Given the description of an element on the screen output the (x, y) to click on. 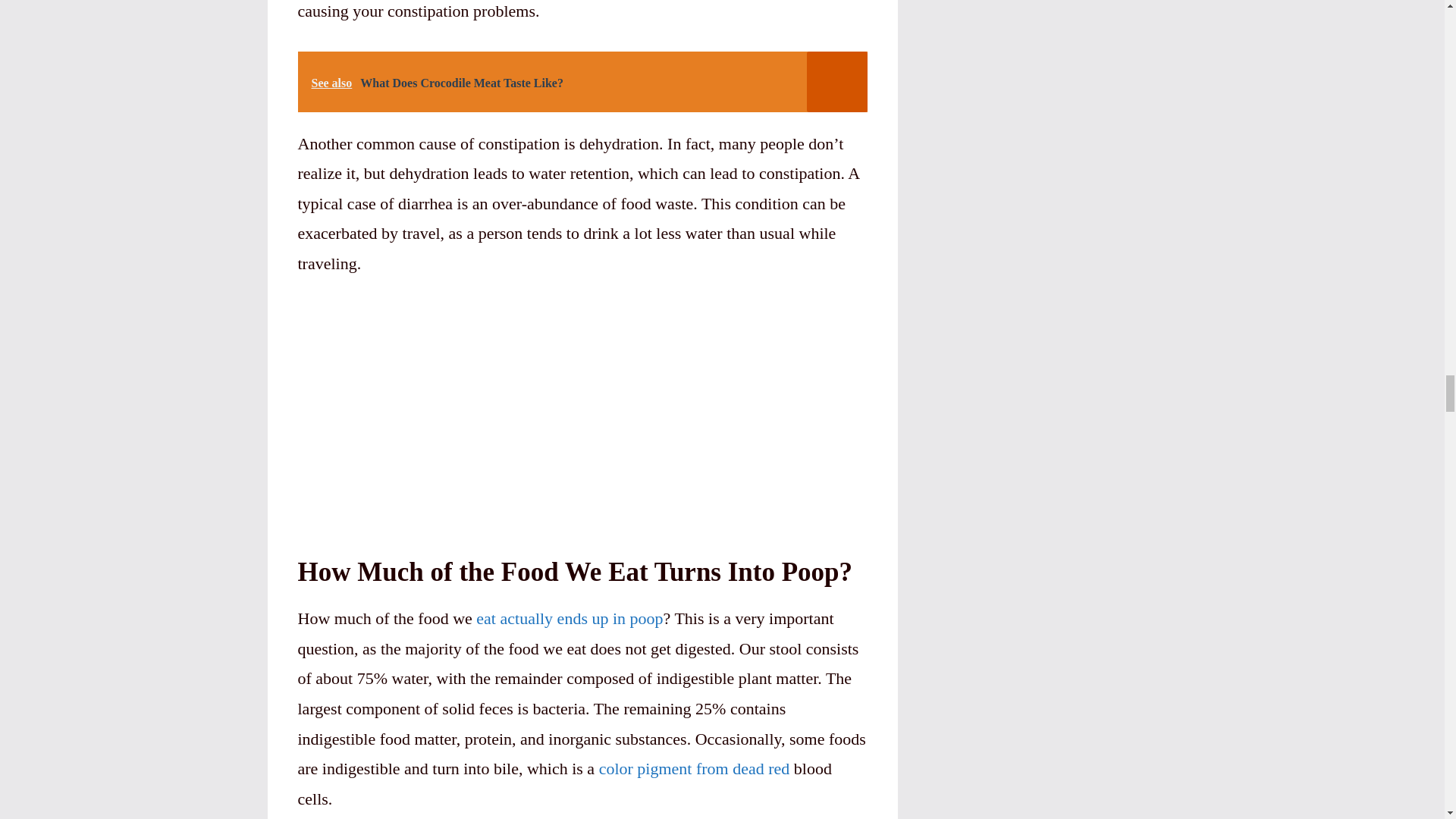
eat actually ends up in poop (569, 618)
See also  What Does Crocodile Meat Taste Like? (581, 81)
color pigment from dead red (694, 768)
